Given the description of an element on the screen output the (x, y) to click on. 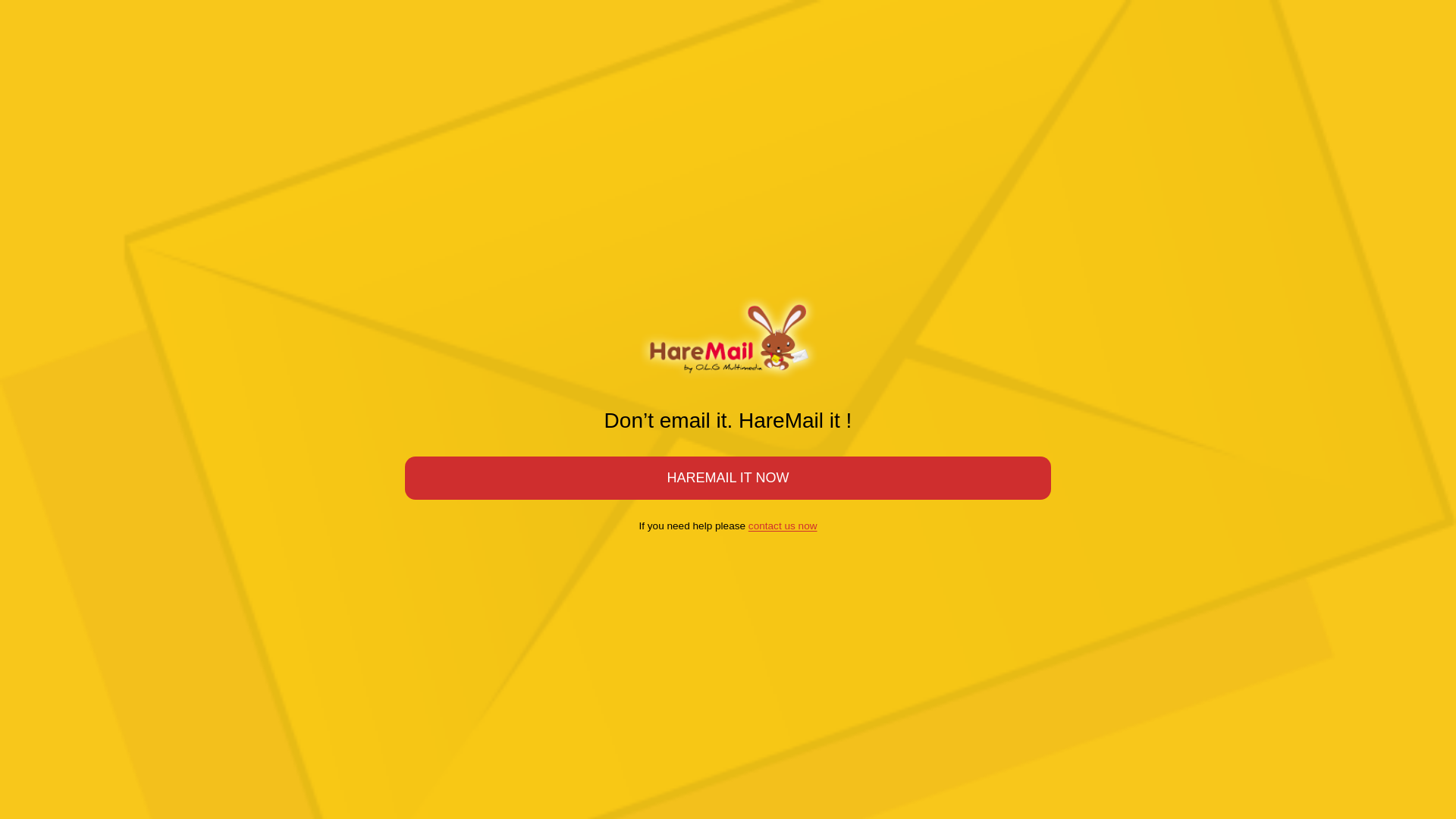
contact us now Element type: text (782, 525)
HAREMAIL IT NOW Element type: text (727, 477)
